Given the description of an element on the screen output the (x, y) to click on. 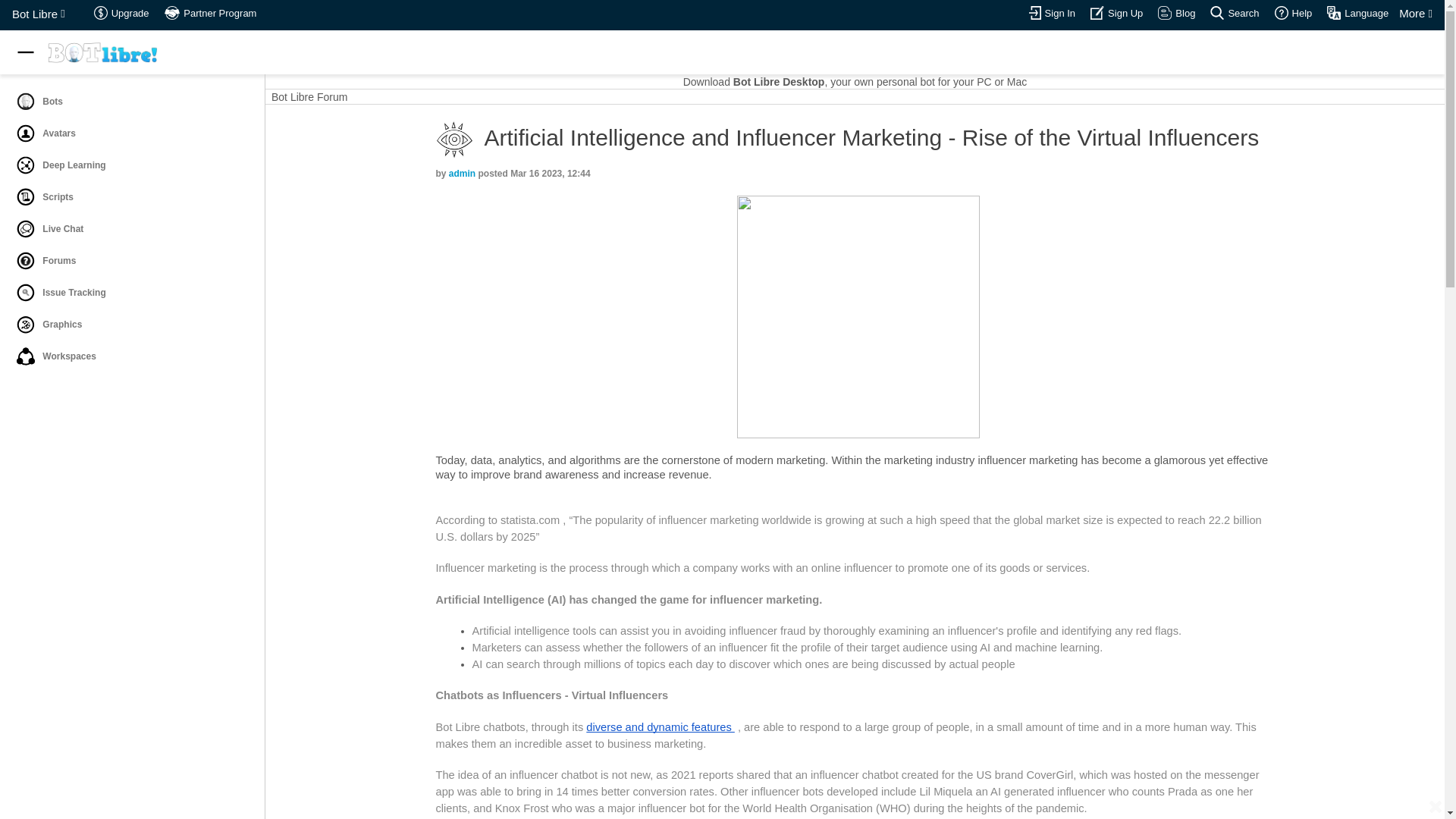
Workspaces (25, 356)
Language (1333, 12)
Blog (1176, 13)
Graphics (25, 324)
Live Chat (130, 228)
Avatars (25, 133)
Bots (25, 101)
Scripts (130, 196)
Upgrade (100, 12)
Search (1234, 13)
Blog (1164, 12)
Issue Tracking (130, 292)
Upgrade (121, 13)
Scripts (25, 197)
Help (1294, 13)
